Given the description of an element on the screen output the (x, y) to click on. 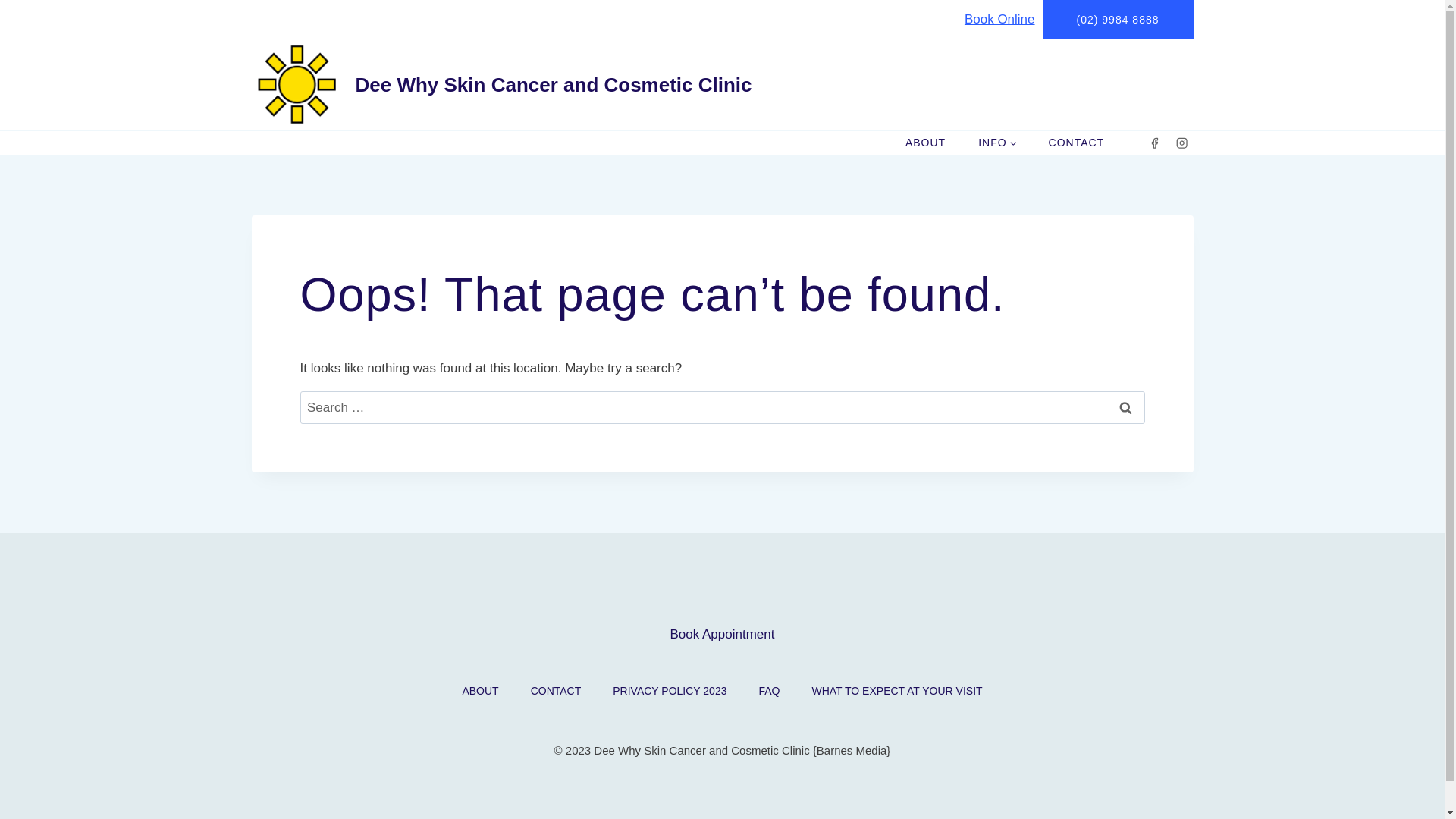
WHAT TO EXPECT AT YOUR VISIT Element type: text (896, 690)
FAQ Element type: text (768, 690)
Book Online Element type: text (999, 19)
CONTACT Element type: text (555, 690)
Search Element type: text (1126, 407)
Dee Why Skin Cancer and Cosmetic Clinic Element type: text (501, 84)
ABOUT Element type: text (479, 690)
PRIVACY POLICY 2023 Element type: text (669, 690)
CONTACT Element type: text (1076, 142)
(02) 9984 8888 Element type: text (1117, 19)
INFO Element type: text (997, 142)
Book Appointment Element type: text (722, 634)
ABOUT Element type: text (925, 142)
